Given the description of an element on the screen output the (x, y) to click on. 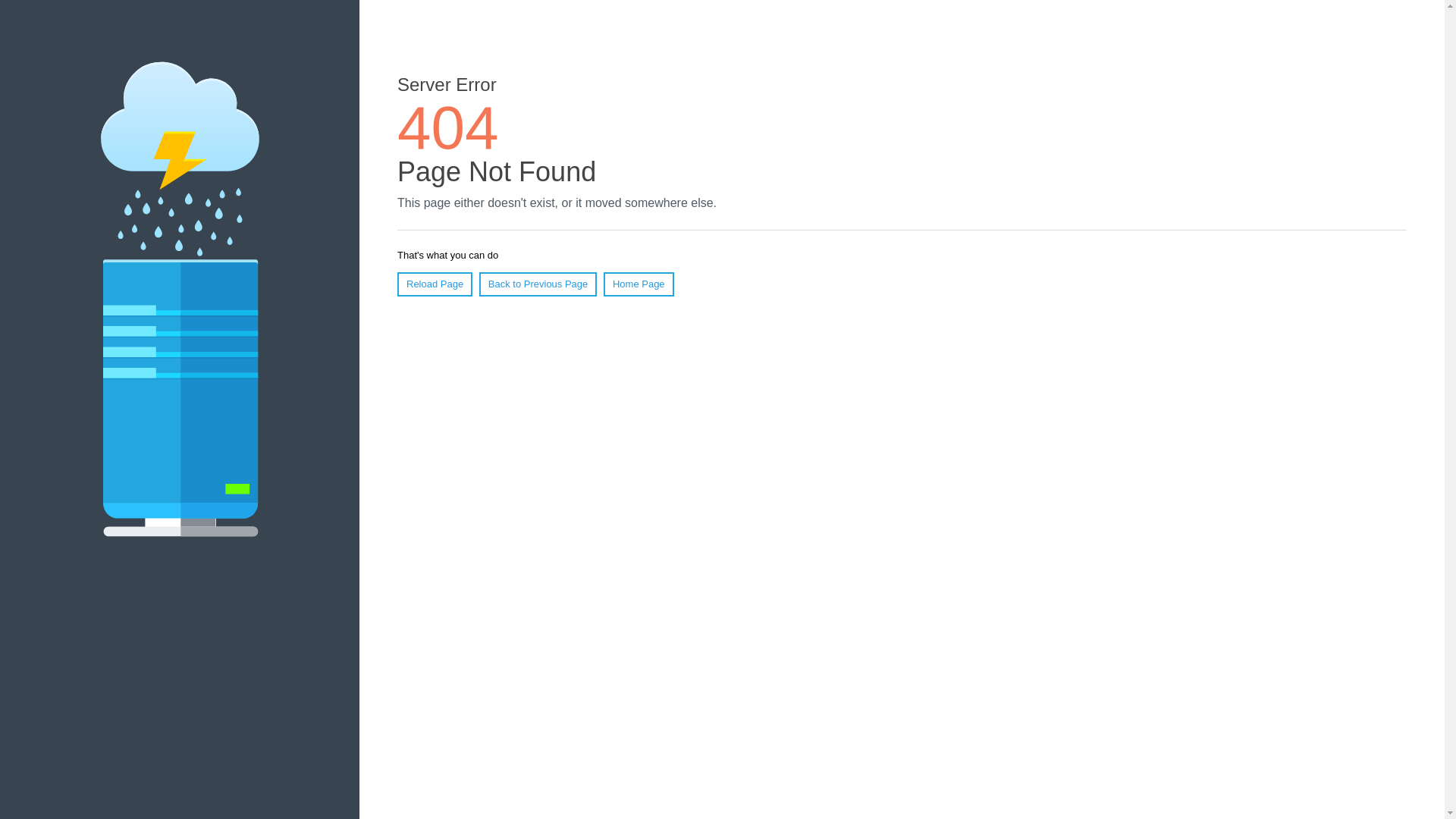
Reload Page Element type: text (434, 284)
Back to Previous Page Element type: text (538, 284)
Home Page Element type: text (638, 284)
